Given the description of an element on the screen output the (x, y) to click on. 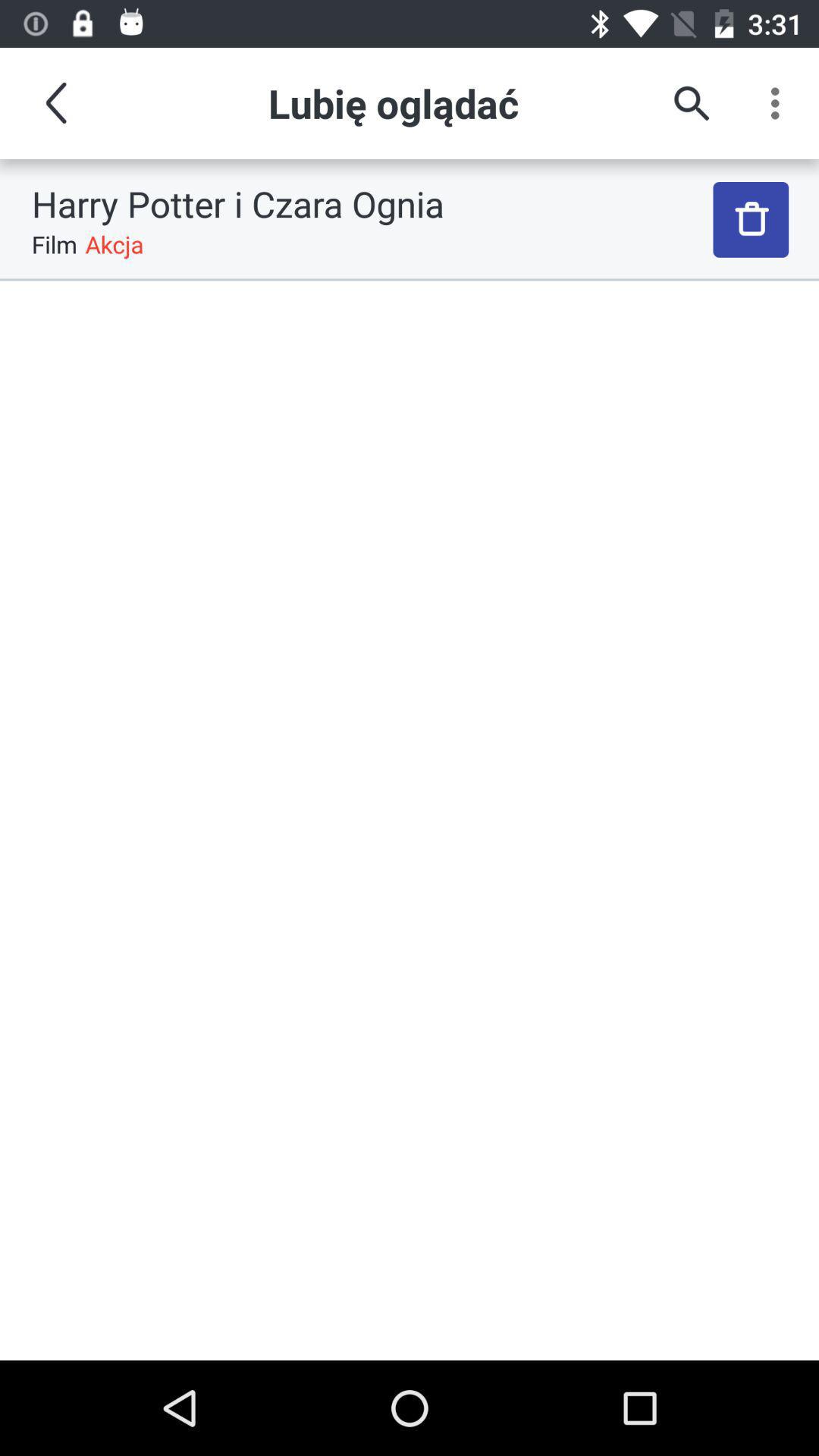
turn on the item next to harry potter i item (750, 219)
